Given the description of an element on the screen output the (x, y) to click on. 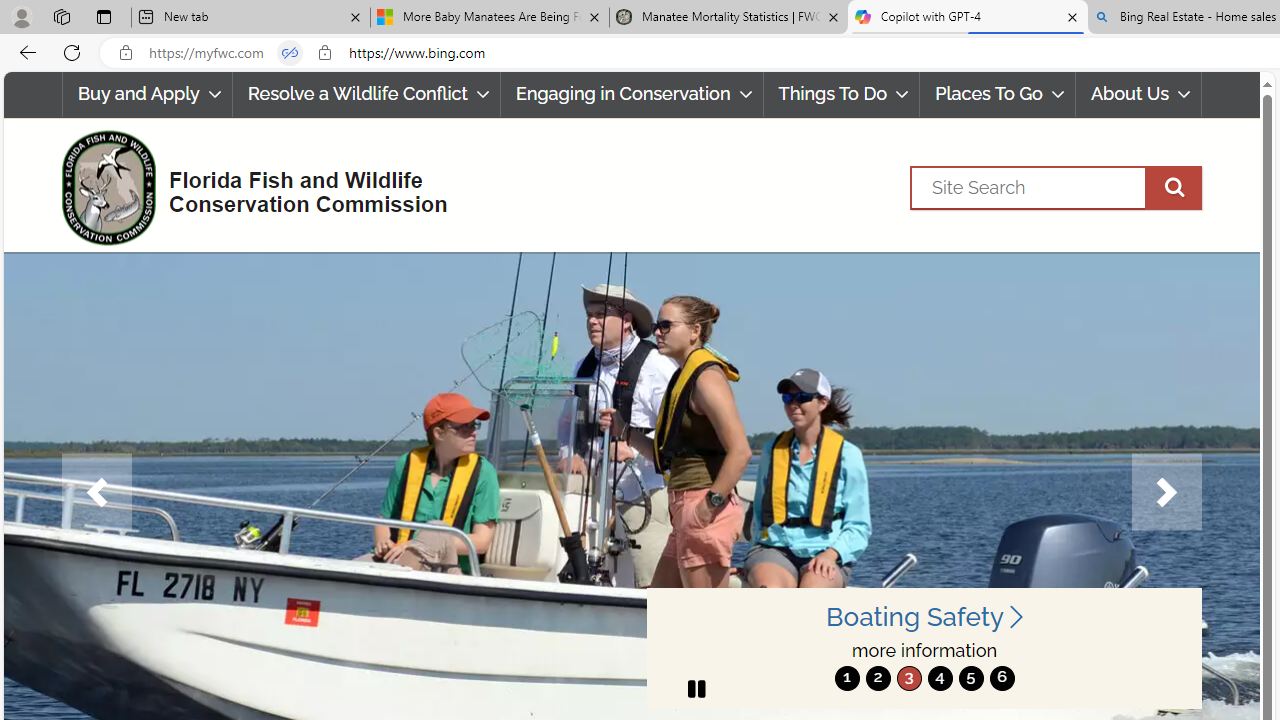
Boating Safety  (923, 616)
slider pause button (696, 688)
Things To Do (841, 94)
Places To Go (998, 94)
Copilot with GPT-4 (967, 17)
Buy and Apply (146, 94)
Next (1166, 491)
1 (847, 678)
2 (877, 678)
About Us (1139, 94)
5 (970, 678)
move to slide 2 (877, 678)
FWC Logo (108, 187)
Buy and Apply (146, 94)
